Given the description of an element on the screen output the (x, y) to click on. 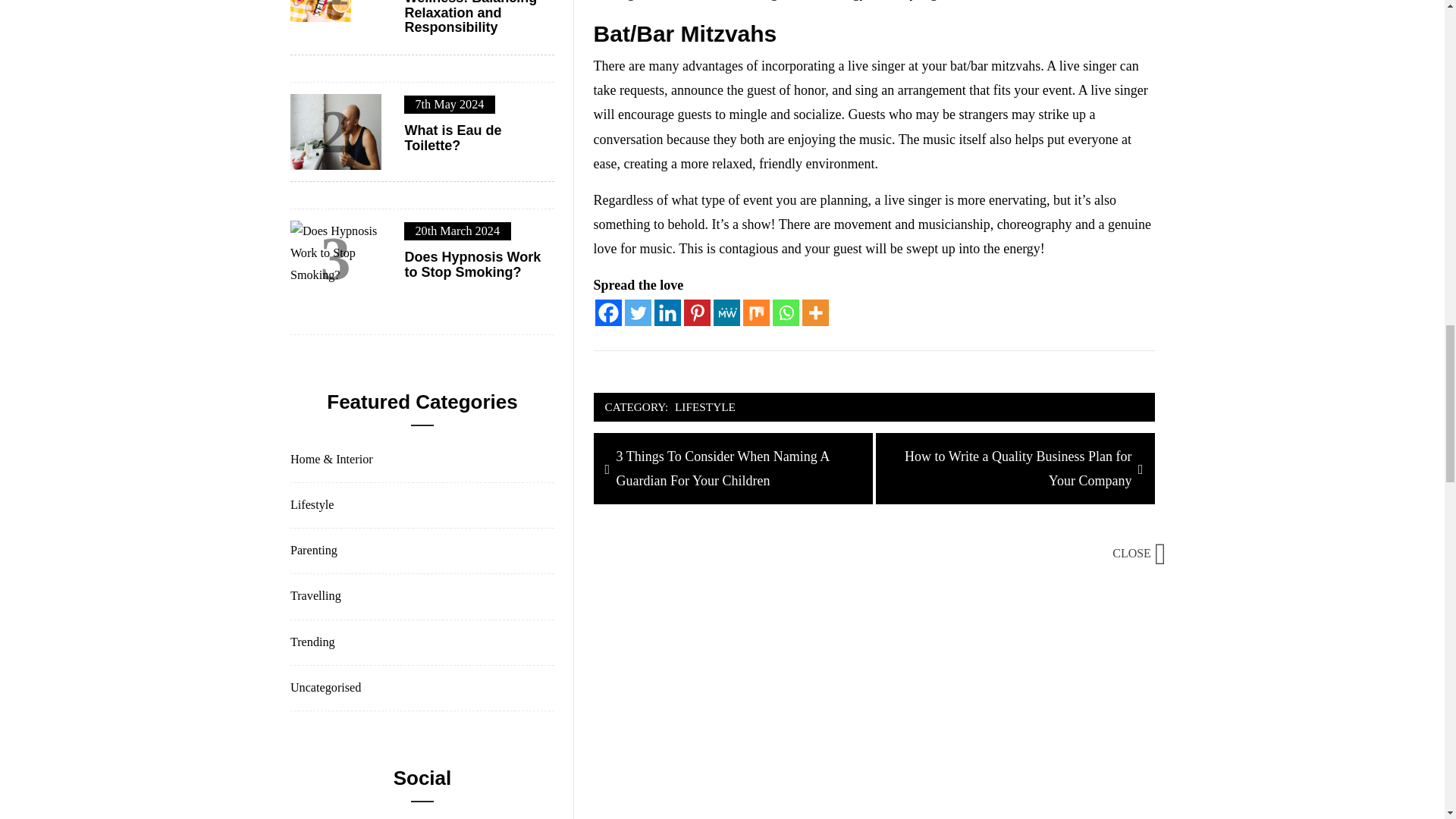
More (815, 312)
Facebook (608, 312)
Mix (756, 312)
Twitter (637, 312)
MeWe (726, 312)
Whatsapp (786, 312)
Linkedin (667, 312)
LIFESTYLE (705, 406)
Pinterest (697, 312)
